Given the description of an element on the screen output the (x, y) to click on. 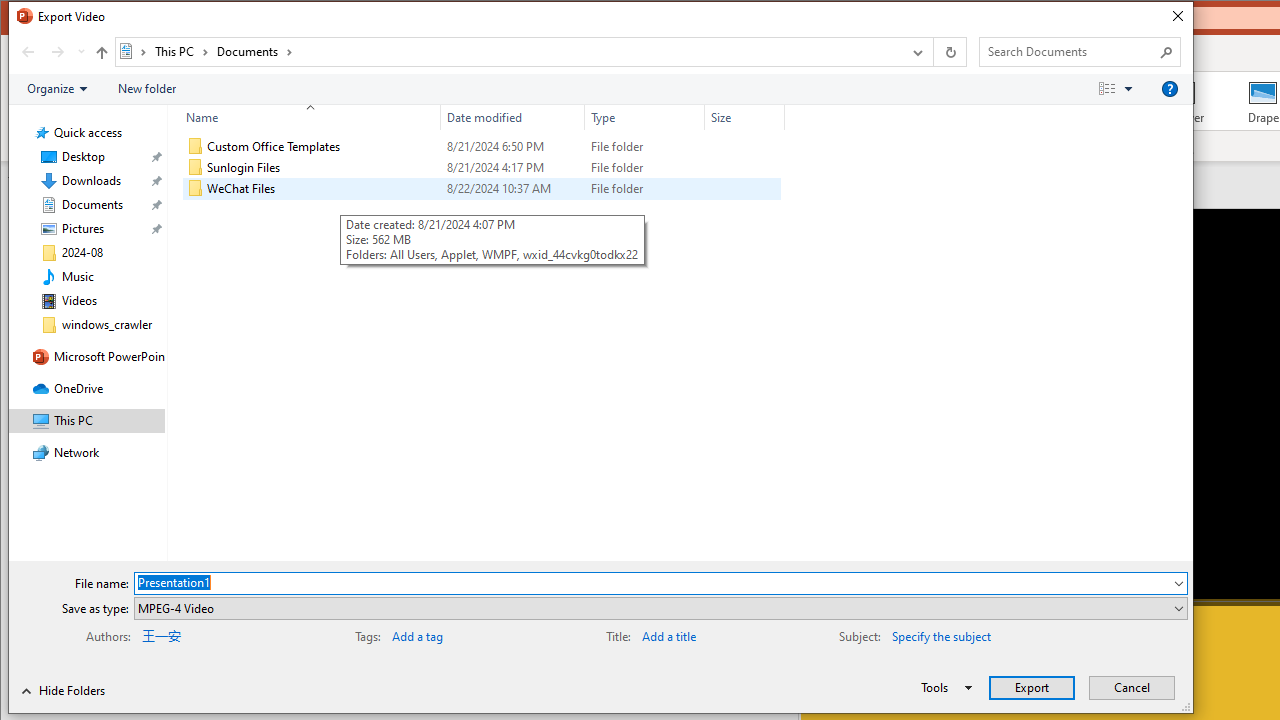
File name: (660, 582)
Tags (454, 634)
Address: Documents (507, 51)
Up to "This PC" (Alt + Up Arrow) (101, 52)
View Slider (1128, 89)
